Given the description of an element on the screen output the (x, y) to click on. 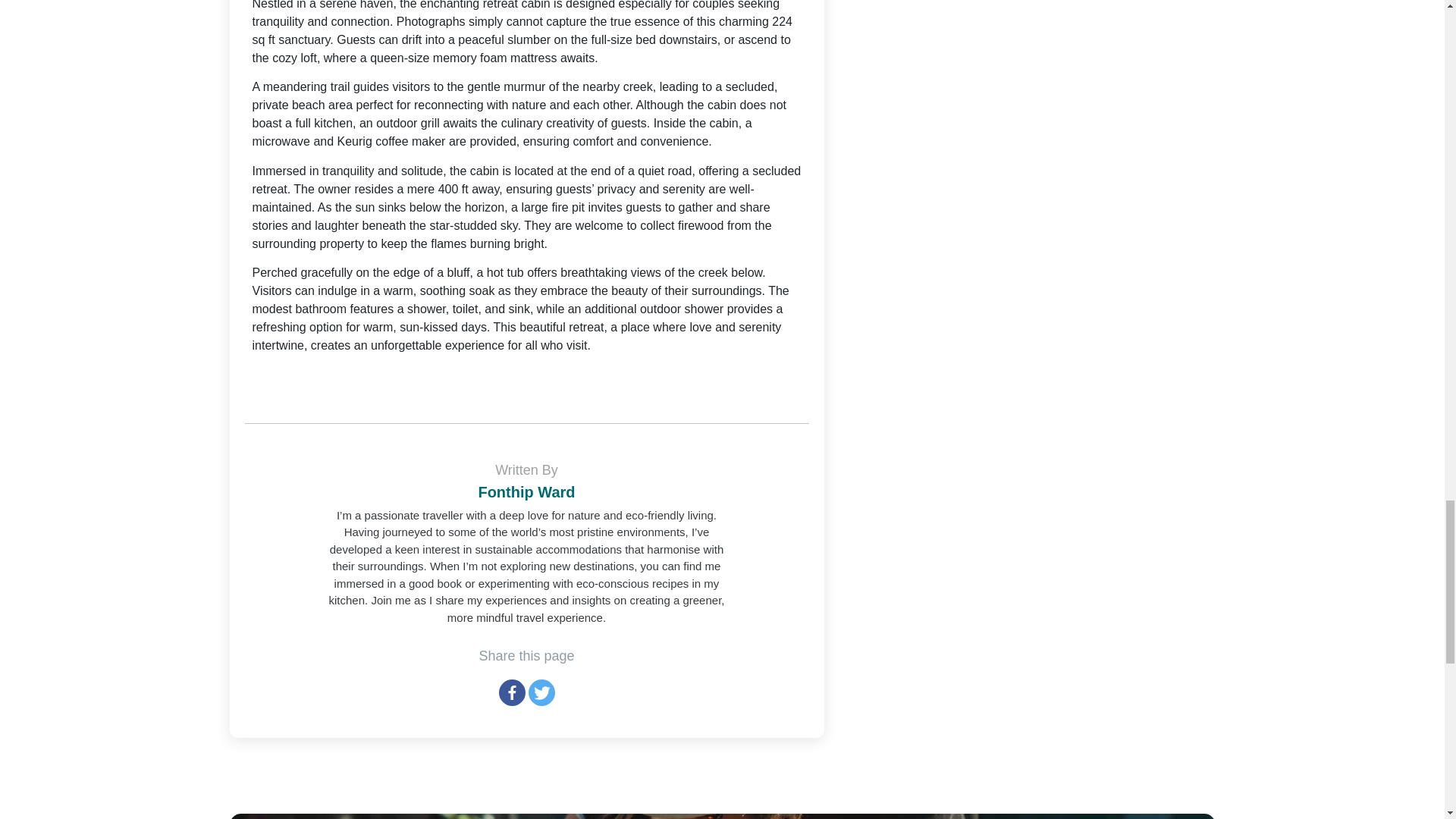
Facebook (512, 692)
Twitter (540, 692)
